Given the description of an element on the screen output the (x, y) to click on. 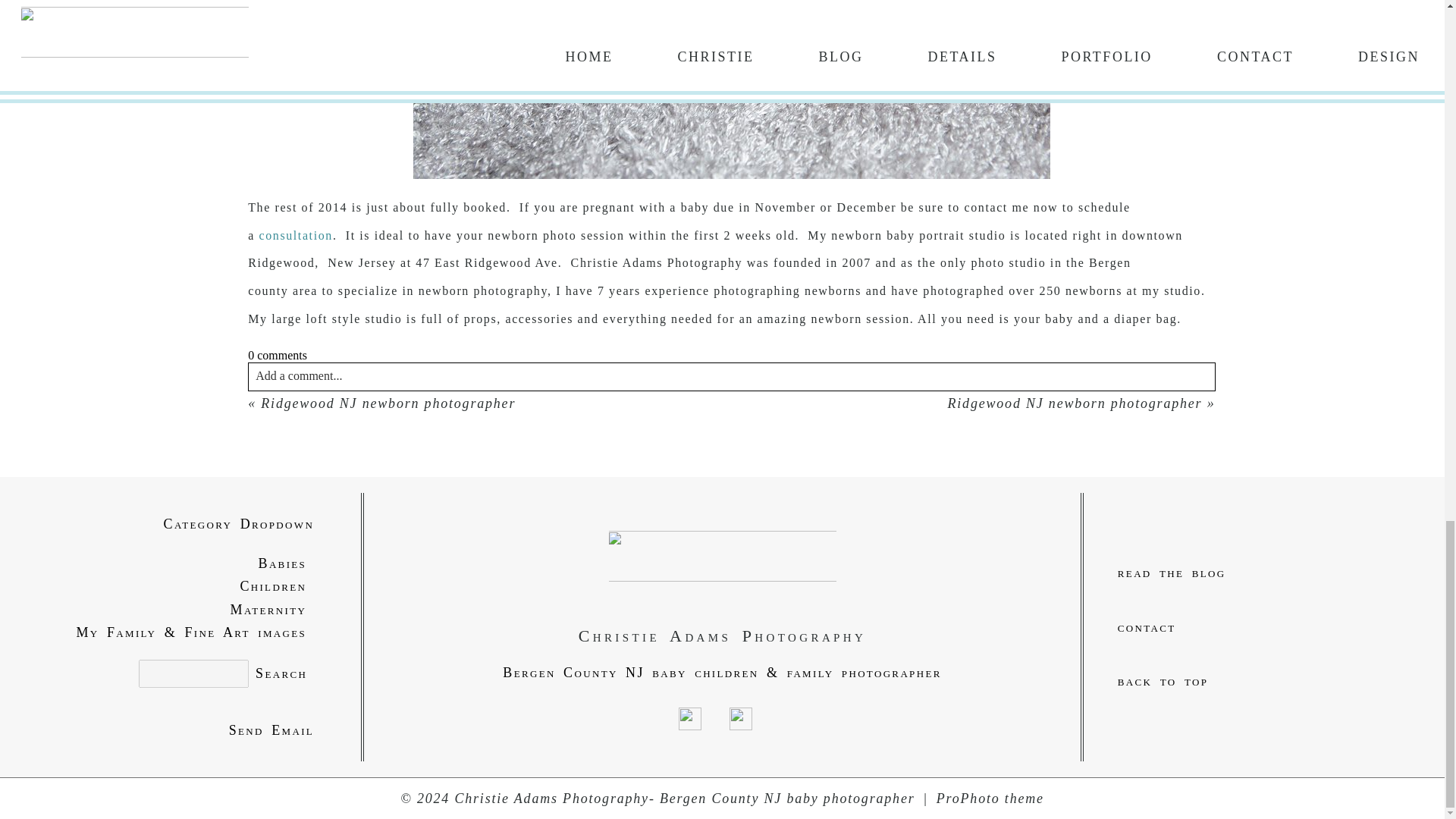
Search (281, 673)
Send Email (180, 730)
Children (180, 586)
read the blog (1263, 572)
Ridgewood NJ newborn photographer (387, 403)
Maternity (180, 609)
Search (281, 673)
Ridgewood NJ newborn photographer (1074, 403)
Babies (180, 563)
consultation (296, 235)
contact (1263, 627)
ProPhoto 8 (989, 798)
Search (281, 673)
